Given the description of an element on the screen output the (x, y) to click on. 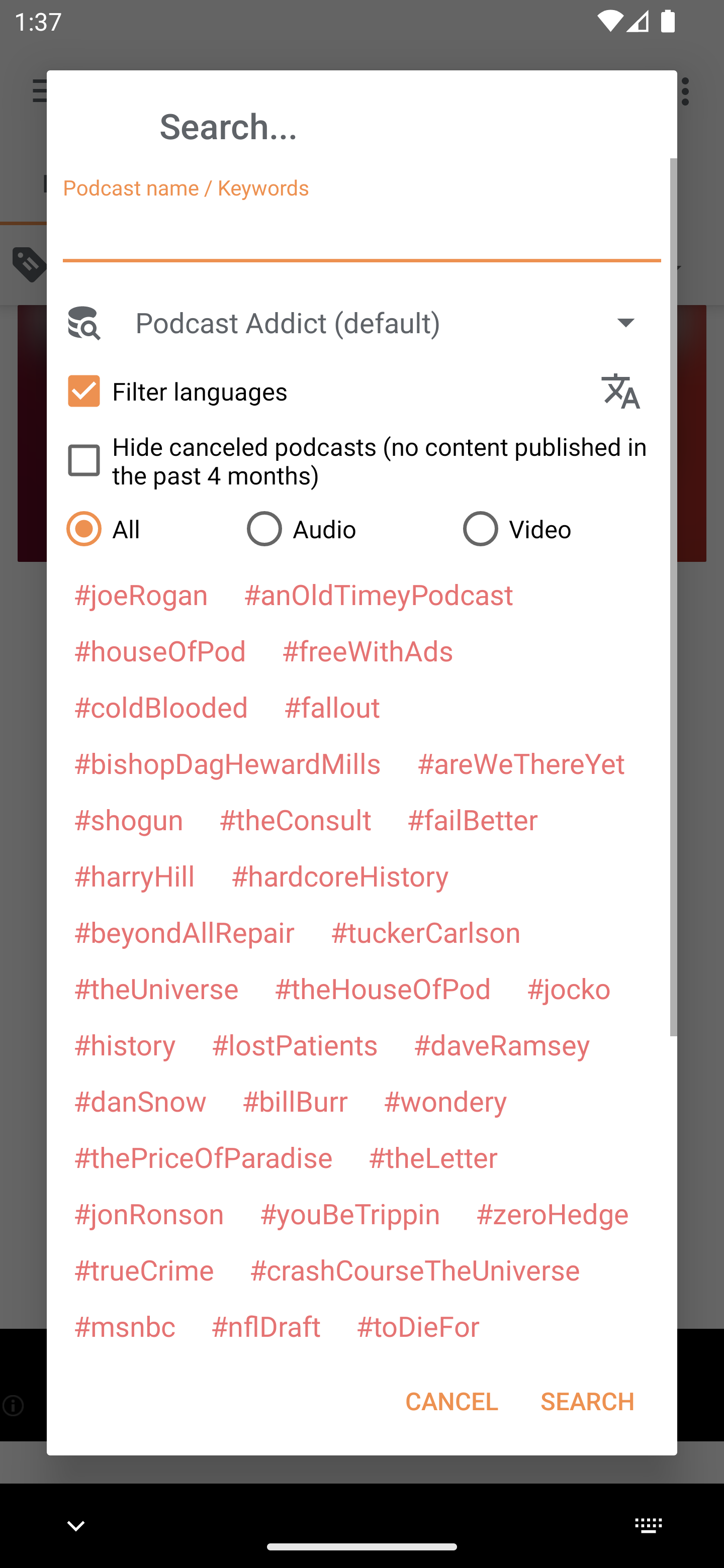
Podcast name / Keywords (361, 234)
Search Engine (82, 322)
Podcast Addict (default) (394, 322)
Languages selection (629, 390)
Filter languages (322, 390)
All (145, 528)
Audio (344, 528)
Video (560, 528)
#joeRogan (140, 594)
#anOldTimeyPodcast (378, 594)
#houseOfPod (159, 650)
#freeWithAds (367, 650)
#coldBlooded (160, 705)
#fallout (331, 705)
#bishopDagHewardMills (227, 762)
#areWeThereYet (521, 762)
#shogun (128, 818)
#theConsult (294, 818)
#failBetter (471, 818)
#harryHill (134, 875)
#hardcoreHistory (339, 875)
#beyondAllRepair (184, 931)
#tuckerCarlson (425, 931)
#theUniverse (155, 987)
#theHouseOfPod (381, 987)
#jocko (568, 987)
#history (124, 1044)
#lostPatients (294, 1044)
#daveRamsey (501, 1044)
#danSnow (139, 1100)
#billBurr (294, 1100)
#wondery (444, 1100)
#thePriceOfParadise (203, 1157)
#theLetter (432, 1157)
#jonRonson (148, 1213)
#youBeTrippin (349, 1213)
#zeroHedge (552, 1213)
#trueCrime (143, 1268)
#crashCourseTheUniverse (414, 1268)
#msnbc (124, 1325)
#nflDraft (265, 1325)
#toDieFor (417, 1325)
CANCEL (451, 1400)
SEARCH (587, 1400)
